Given the description of an element on the screen output the (x, y) to click on. 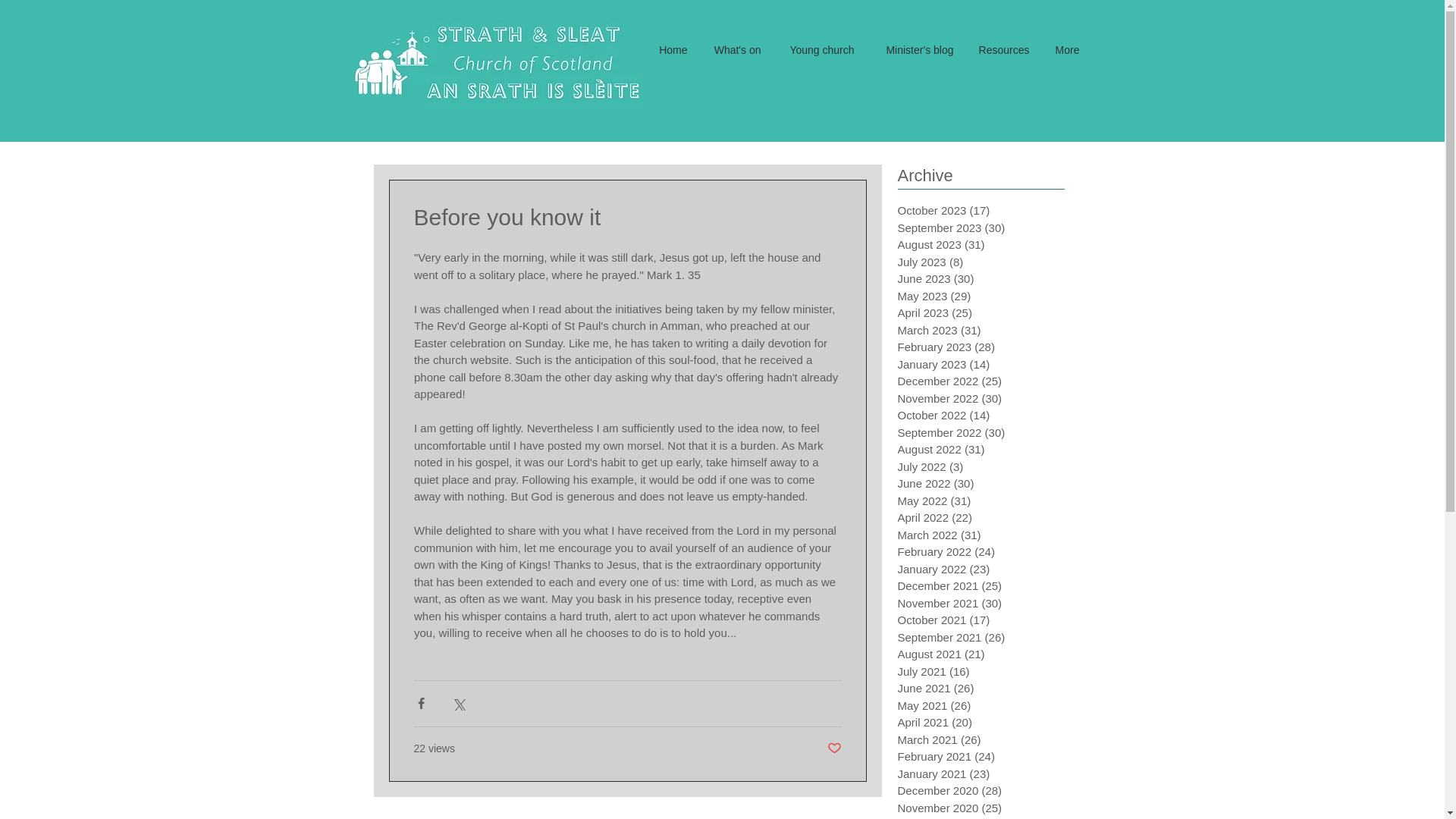
Home (671, 50)
Resources (1002, 50)
What's on (735, 50)
Post not marked as liked (834, 748)
Young church (817, 50)
Minister's blog (915, 50)
